Given the description of an element on the screen output the (x, y) to click on. 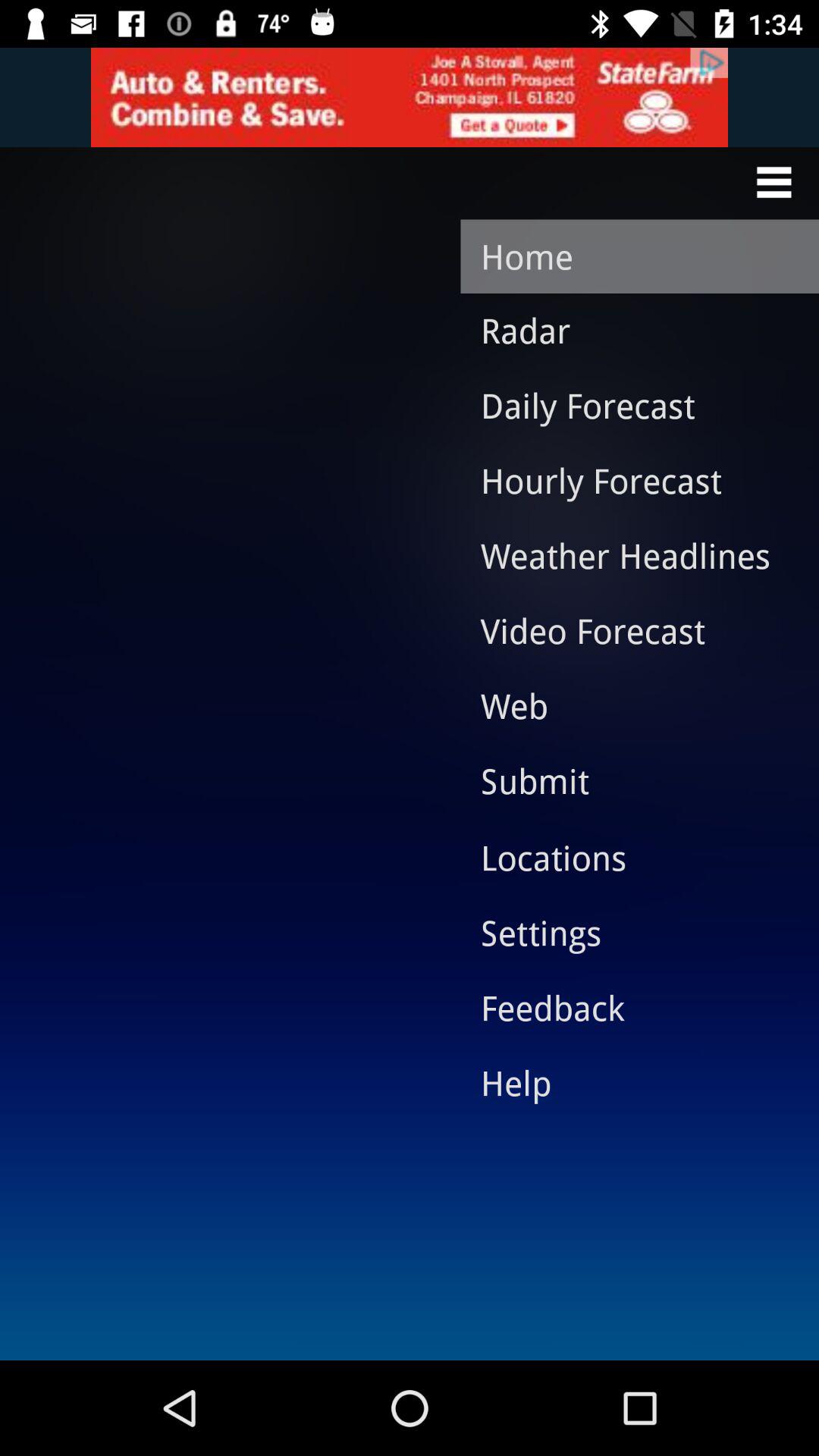
advertisement for state farm (409, 97)
